Given the description of an element on the screen output the (x, y) to click on. 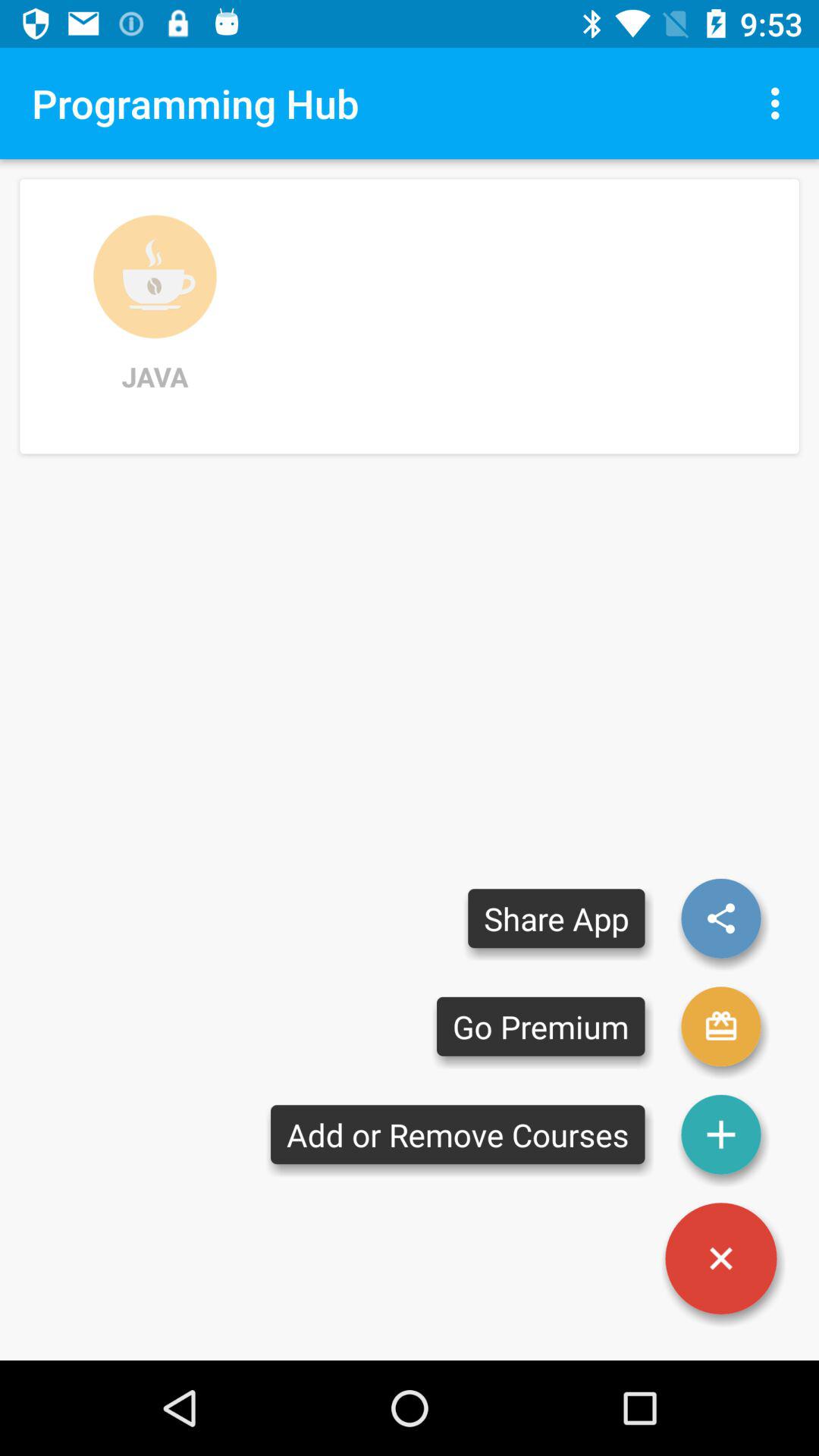
turn on item above add or remove icon (540, 1026)
